Given the description of an element on the screen output the (x, y) to click on. 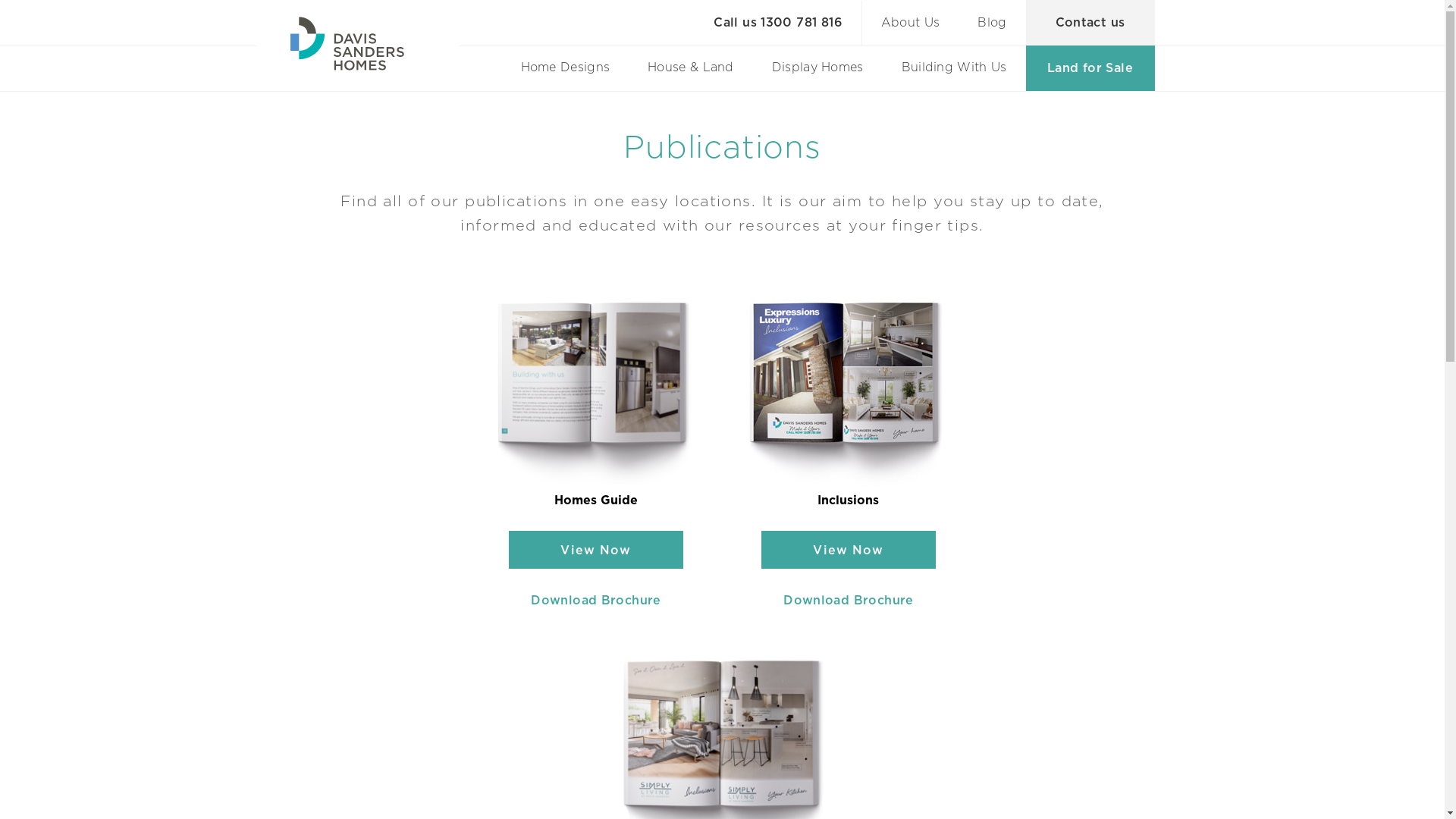
Blog Element type: text (991, 22)
Land for Sale Element type: text (1089, 68)
Building With Us Element type: text (954, 67)
About Us Element type: text (910, 22)
Home Designs Element type: text (565, 67)
House & Land Element type: text (690, 67)
Download Brochure Element type: text (595, 600)
Call us 1300 781 816 Element type: text (777, 22)
davis sanders inclusions thumb 2 Element type: hover (595, 392)
Contact us Element type: text (1089, 22)
Display Homes Element type: text (817, 67)
View Now Element type: text (848, 549)
View Now Element type: text (595, 549)
Download Brochure Element type: text (848, 600)
davis sanders inclusions thumb 2 Element type: hover (847, 392)
